Given the description of an element on the screen output the (x, y) to click on. 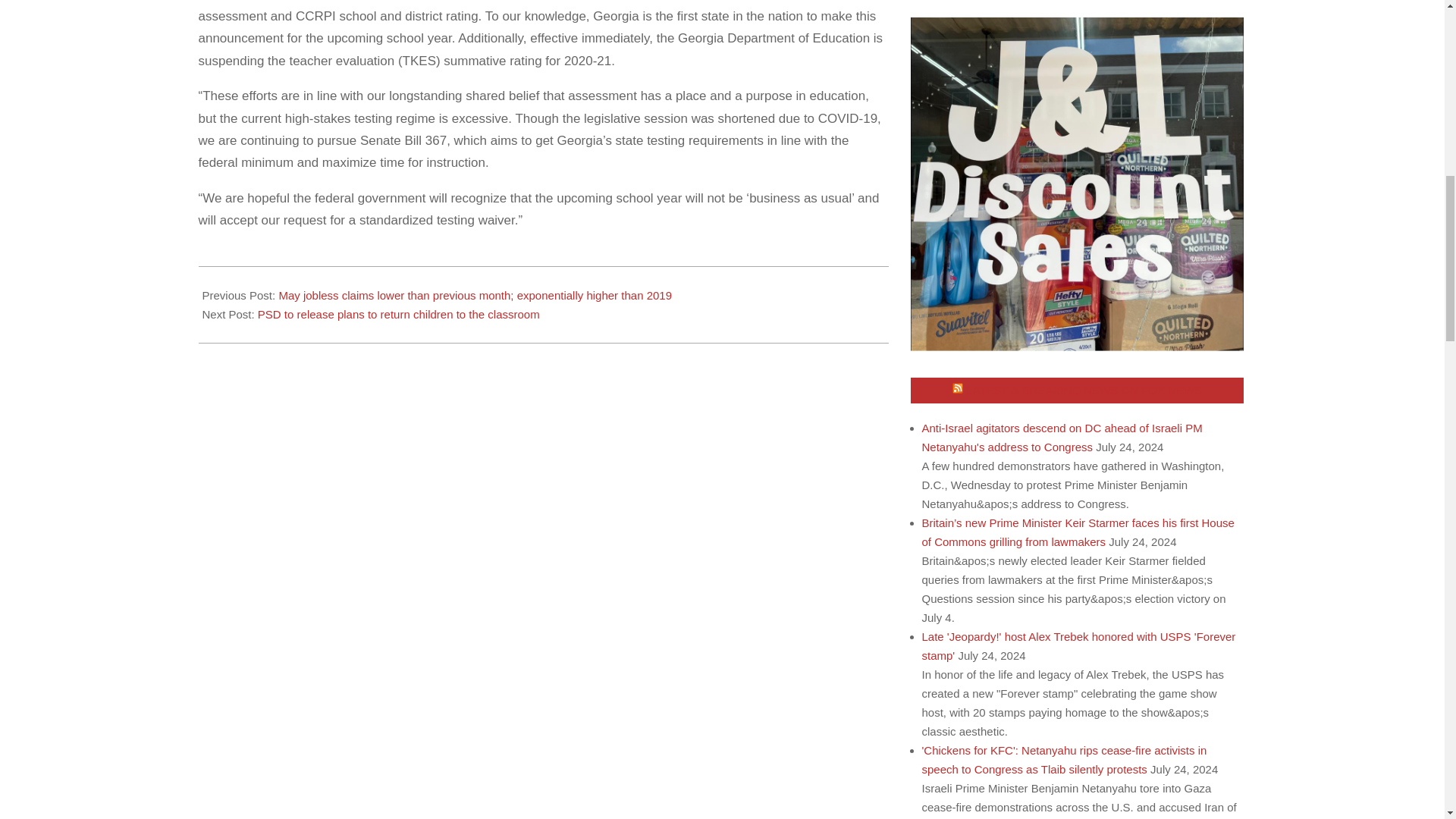
PSD to release plans to return children to the classroom (398, 314)
